Given the description of an element on the screen output the (x, y) to click on. 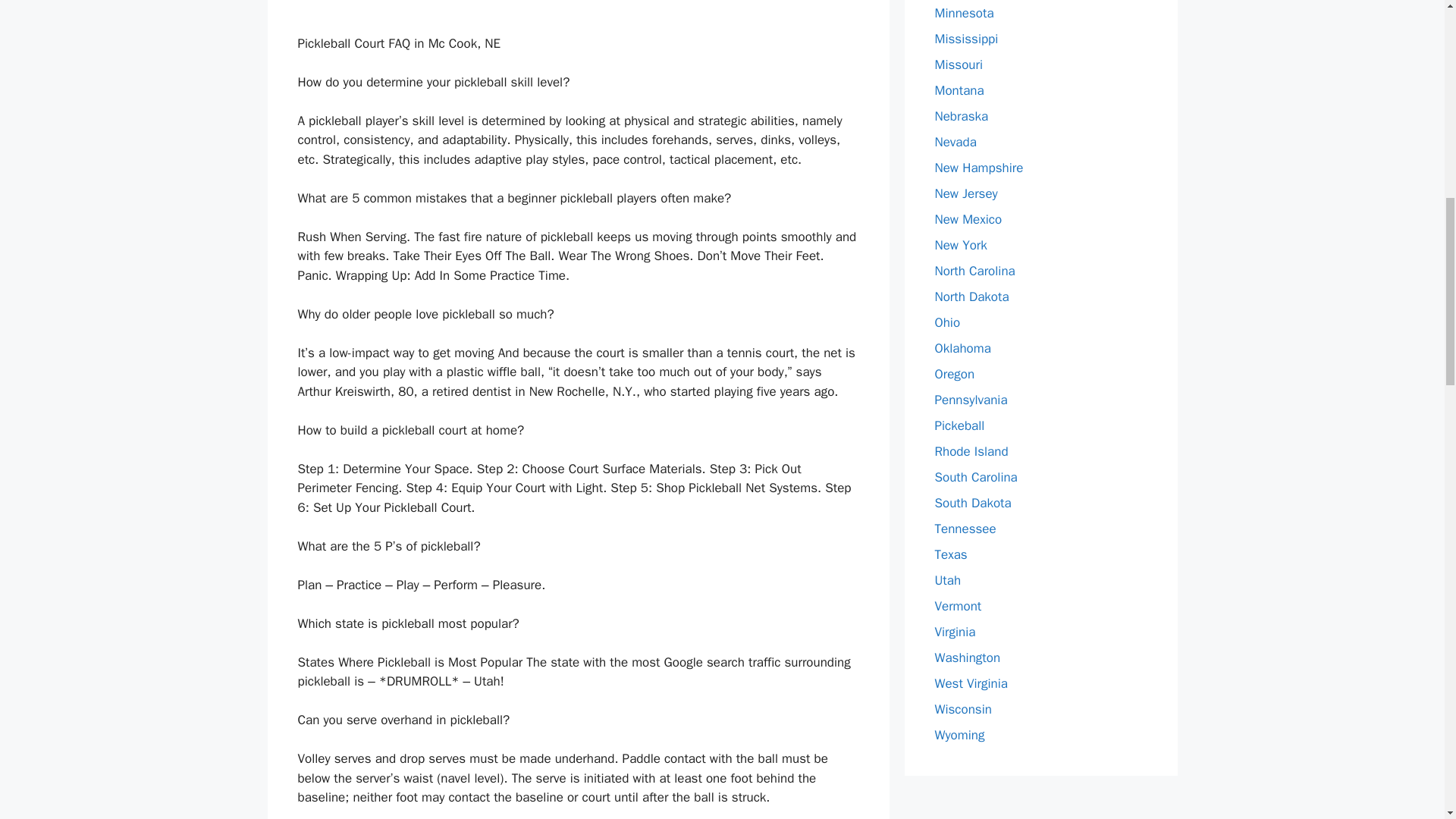
Mississippi (965, 38)
Minnesota (963, 12)
